Given the description of an element on the screen output the (x, y) to click on. 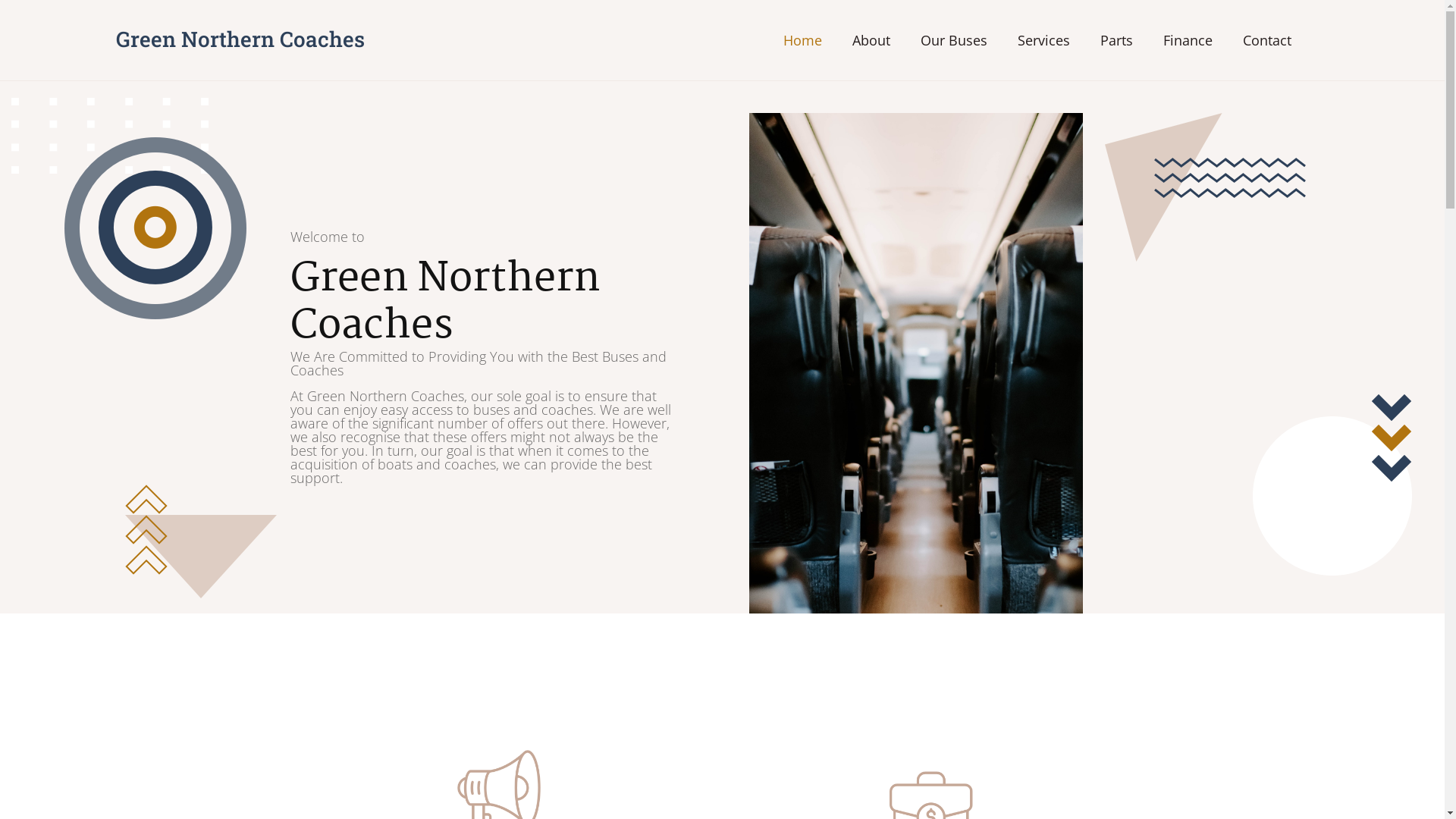
Our Buses Element type: text (953, 39)
Finance Element type: text (1187, 39)
Services Element type: text (1043, 39)
Home Element type: text (801, 39)
Contact Element type: text (1265, 39)
Green Northern Coaches Element type: text (239, 39)
Skip to content Element type: text (15, 7)
Parts Element type: text (1115, 39)
About Element type: text (871, 39)
